Given the description of an element on the screen output the (x, y) to click on. 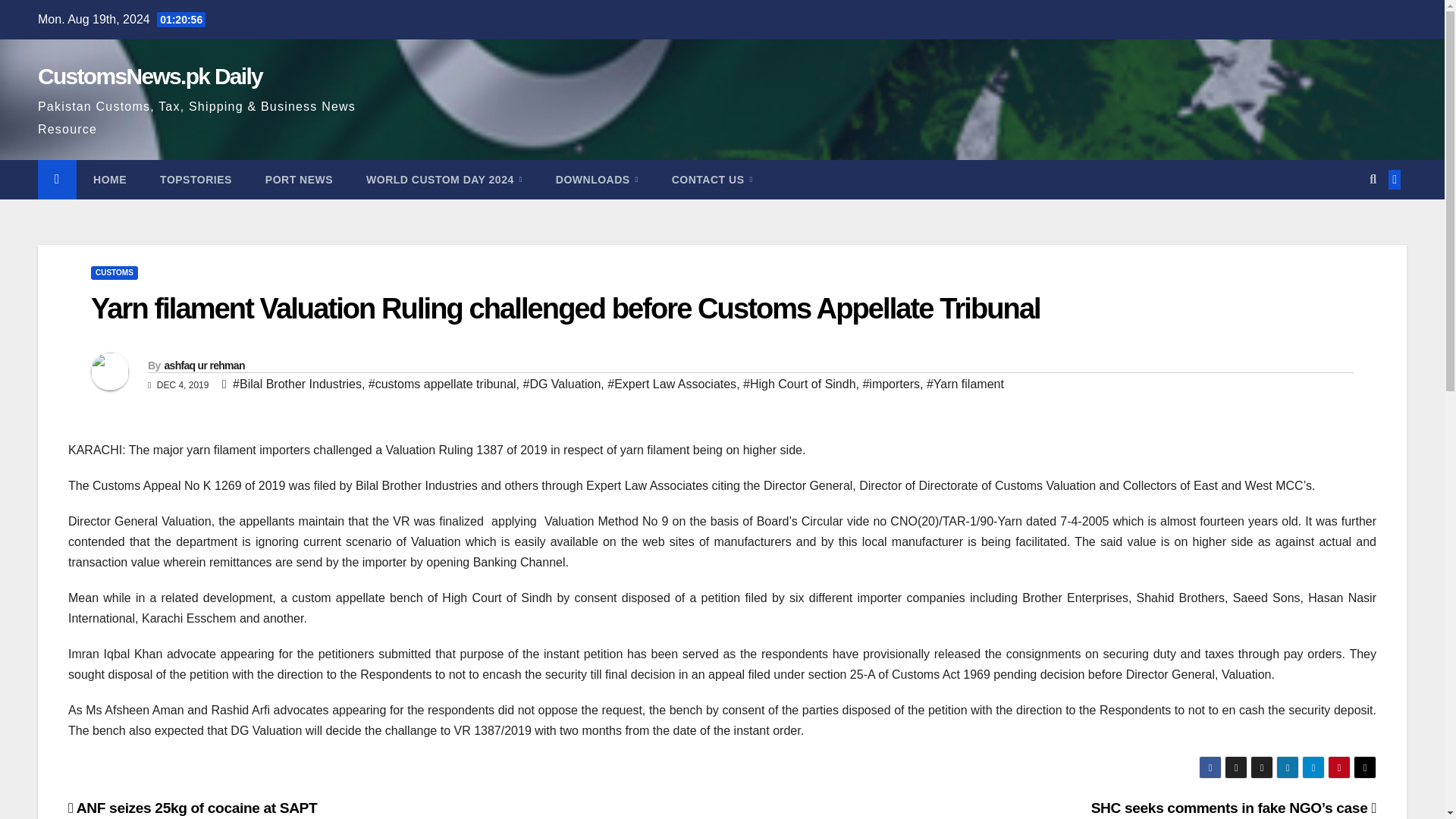
World Custom Day 2024 (443, 179)
TOPSTORIES (195, 179)
Home (109, 179)
CustomsNews.pk Daily (149, 75)
WORLD CUSTOM DAY 2024 (443, 179)
DOWNLOADS (596, 179)
TopStories (195, 179)
HOME (109, 179)
PORT NEWS (298, 179)
Port News (298, 179)
